Given the description of an element on the screen output the (x, y) to click on. 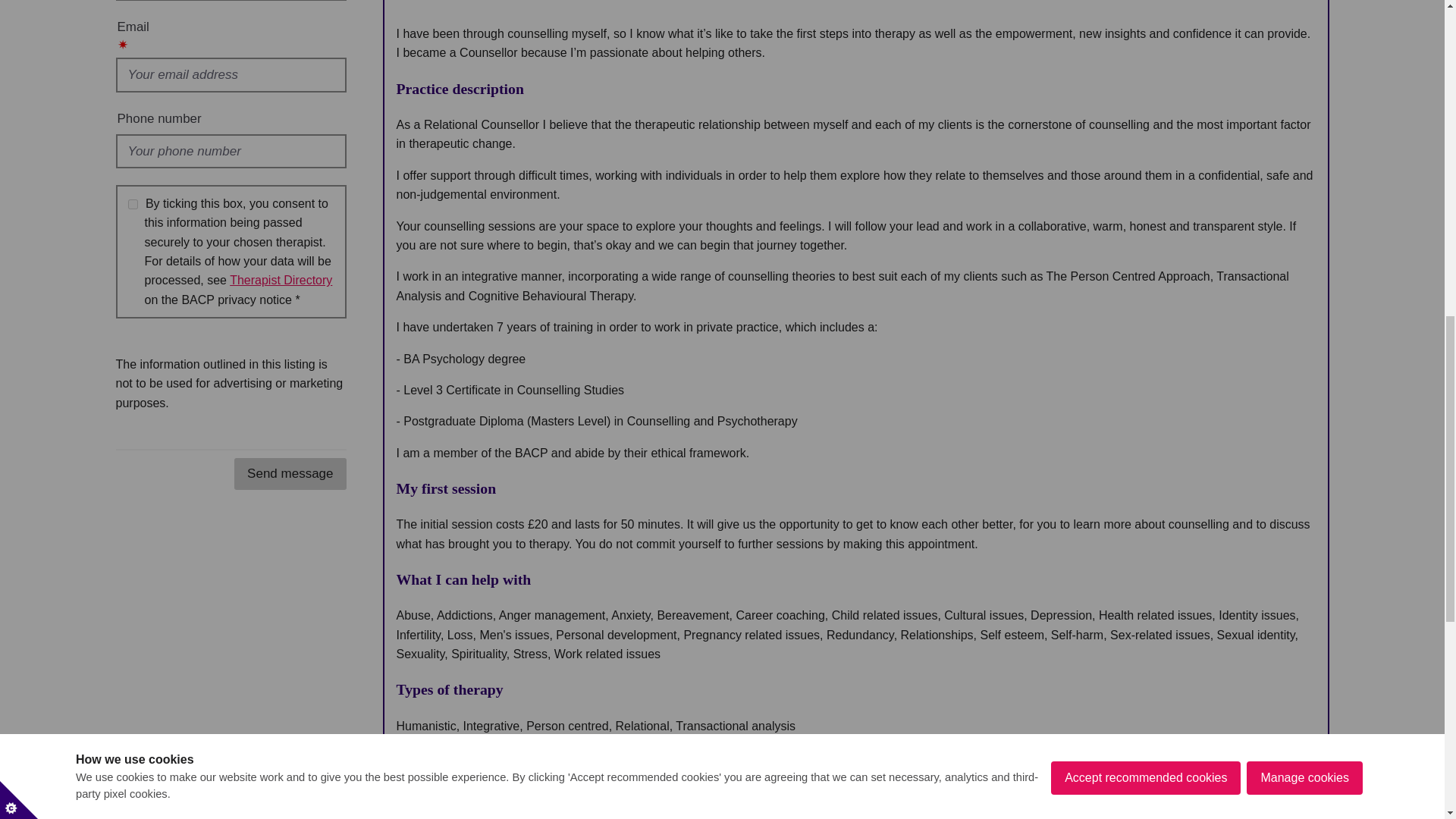
true (132, 204)
Privacy (280, 279)
Accept recommended cookies (1145, 32)
Manage cookies (1304, 17)
